Given the description of an element on the screen output the (x, y) to click on. 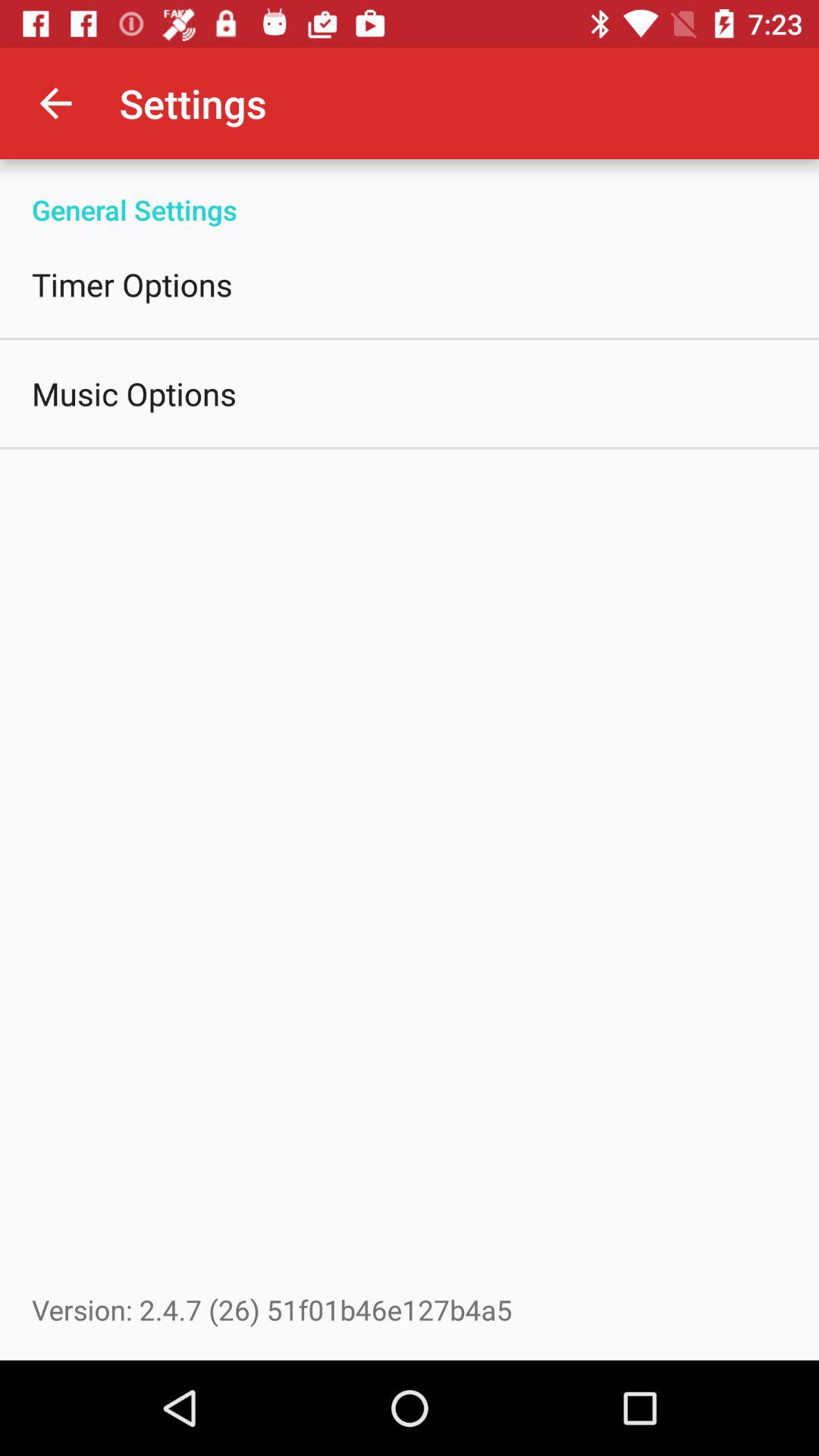
click item above general settings (55, 103)
